Given the description of an element on the screen output the (x, y) to click on. 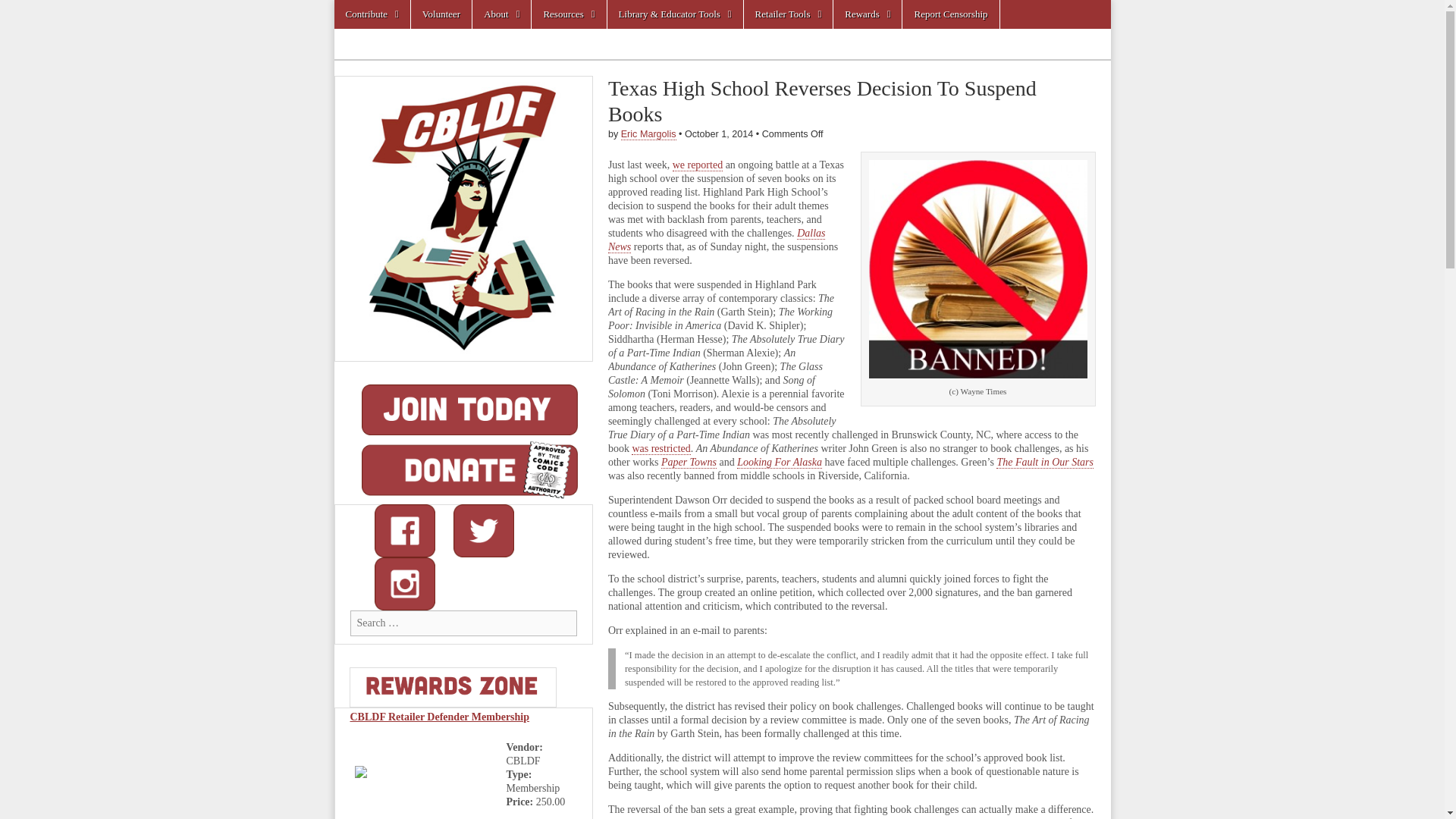
Retail Tools (788, 14)
Contribute (371, 14)
Posts by Eric Margolis (649, 134)
Resources (568, 14)
About (501, 14)
Volunteer (440, 14)
